Given the description of an element on the screen output the (x, y) to click on. 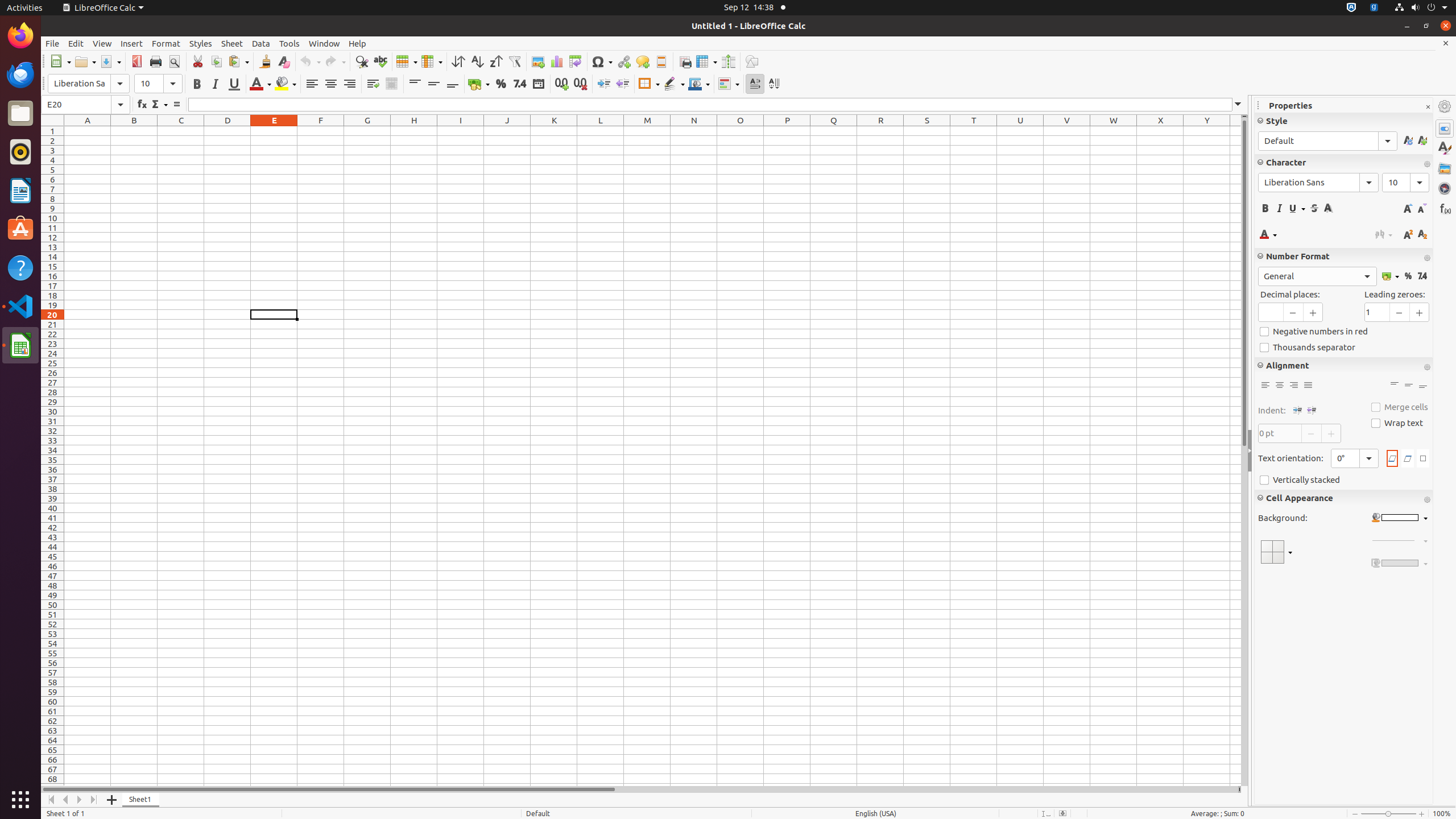
K1 Element type: table-cell (553, 130)
Split Window Element type: push-button (727, 61)
Subscript Element type: push-button (1422, 234)
Superscript Element type: push-button (1407, 234)
LibreOffice Writer Element type: push-button (20, 190)
